Given the description of an element on the screen output the (x, y) to click on. 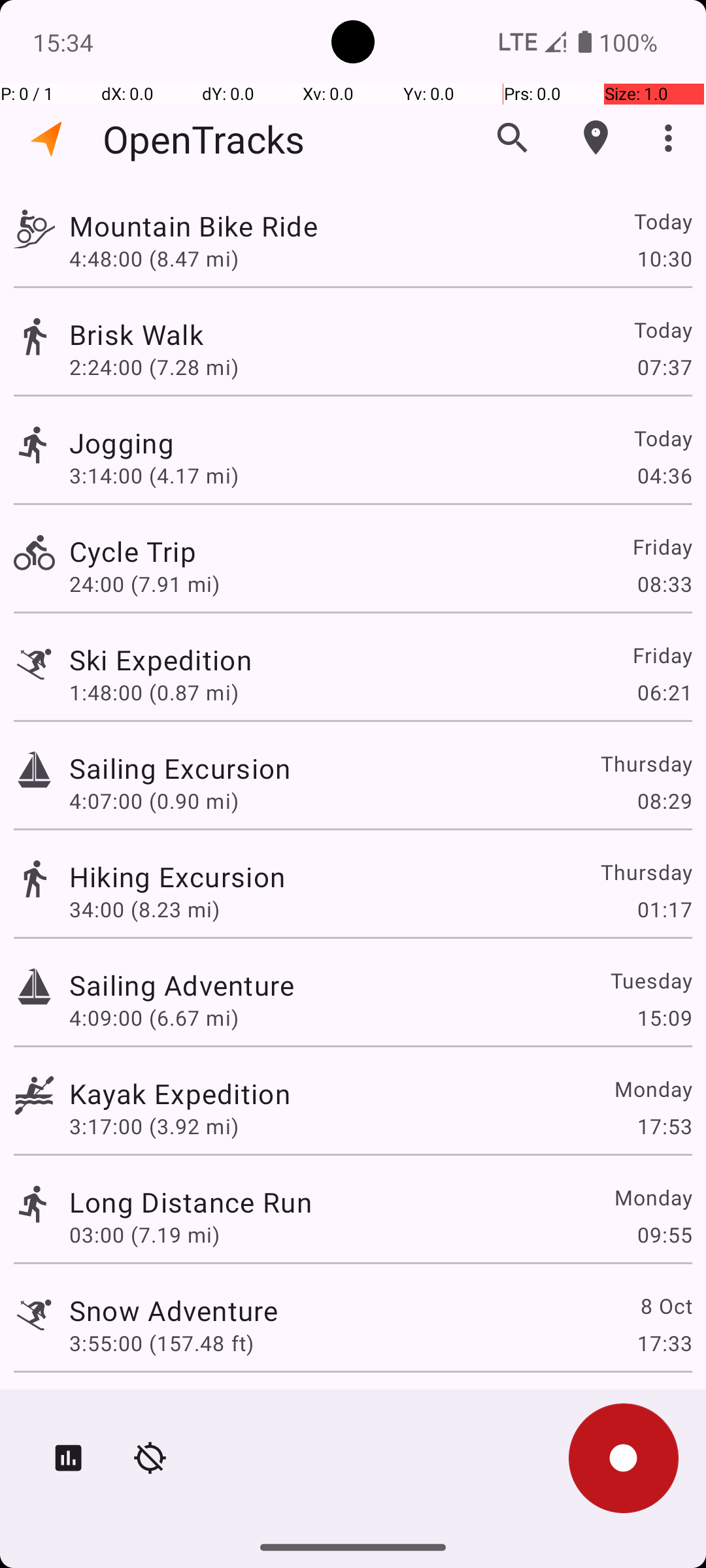
Mountain Bike Ride Element type: android.widget.TextView (193, 225)
4:48:00 (8.47 mi) Element type: android.widget.TextView (153, 258)
10:30 Element type: android.widget.TextView (664, 258)
Brisk Walk Element type: android.widget.TextView (135, 333)
2:24:00 (7.28 mi) Element type: android.widget.TextView (153, 366)
07:37 Element type: android.widget.TextView (664, 366)
Jogging Element type: android.widget.TextView (121, 442)
3:14:00 (4.17 mi) Element type: android.widget.TextView (153, 475)
04:36 Element type: android.widget.TextView (664, 475)
Cycle Trip Element type: android.widget.TextView (132, 550)
24:00 (7.91 mi) Element type: android.widget.TextView (144, 583)
08:33 Element type: android.widget.TextView (664, 583)
Ski Expedition Element type: android.widget.TextView (160, 659)
1:48:00 (0.87 mi) Element type: android.widget.TextView (153, 692)
06:21 Element type: android.widget.TextView (664, 692)
Sailing Excursion Element type: android.widget.TextView (179, 767)
4:07:00 (0.90 mi) Element type: android.widget.TextView (153, 800)
08:29 Element type: android.widget.TextView (664, 800)
Hiking Excursion Element type: android.widget.TextView (176, 876)
34:00 (8.23 mi) Element type: android.widget.TextView (144, 909)
01:17 Element type: android.widget.TextView (664, 909)
Sailing Adventure Element type: android.widget.TextView (181, 984)
4:09:00 (6.67 mi) Element type: android.widget.TextView (153, 1017)
15:09 Element type: android.widget.TextView (664, 1017)
Kayak Expedition Element type: android.widget.TextView (179, 1092)
3:17:00 (3.92 mi) Element type: android.widget.TextView (153, 1125)
17:53 Element type: android.widget.TextView (664, 1125)
Long Distance Run Element type: android.widget.TextView (190, 1201)
03:00 (7.19 mi) Element type: android.widget.TextView (144, 1234)
09:55 Element type: android.widget.TextView (664, 1234)
Snow Adventure Element type: android.widget.TextView (173, 1309)
3:55:00 (157.48 ft) Element type: android.widget.TextView (161, 1342)
17:33 Element type: android.widget.TextView (664, 1342)
Road Cycling Element type: android.widget.TextView (152, 1408)
6 Oct Element type: android.widget.TextView (665, 1408)
